Given the description of an element on the screen output the (x, y) to click on. 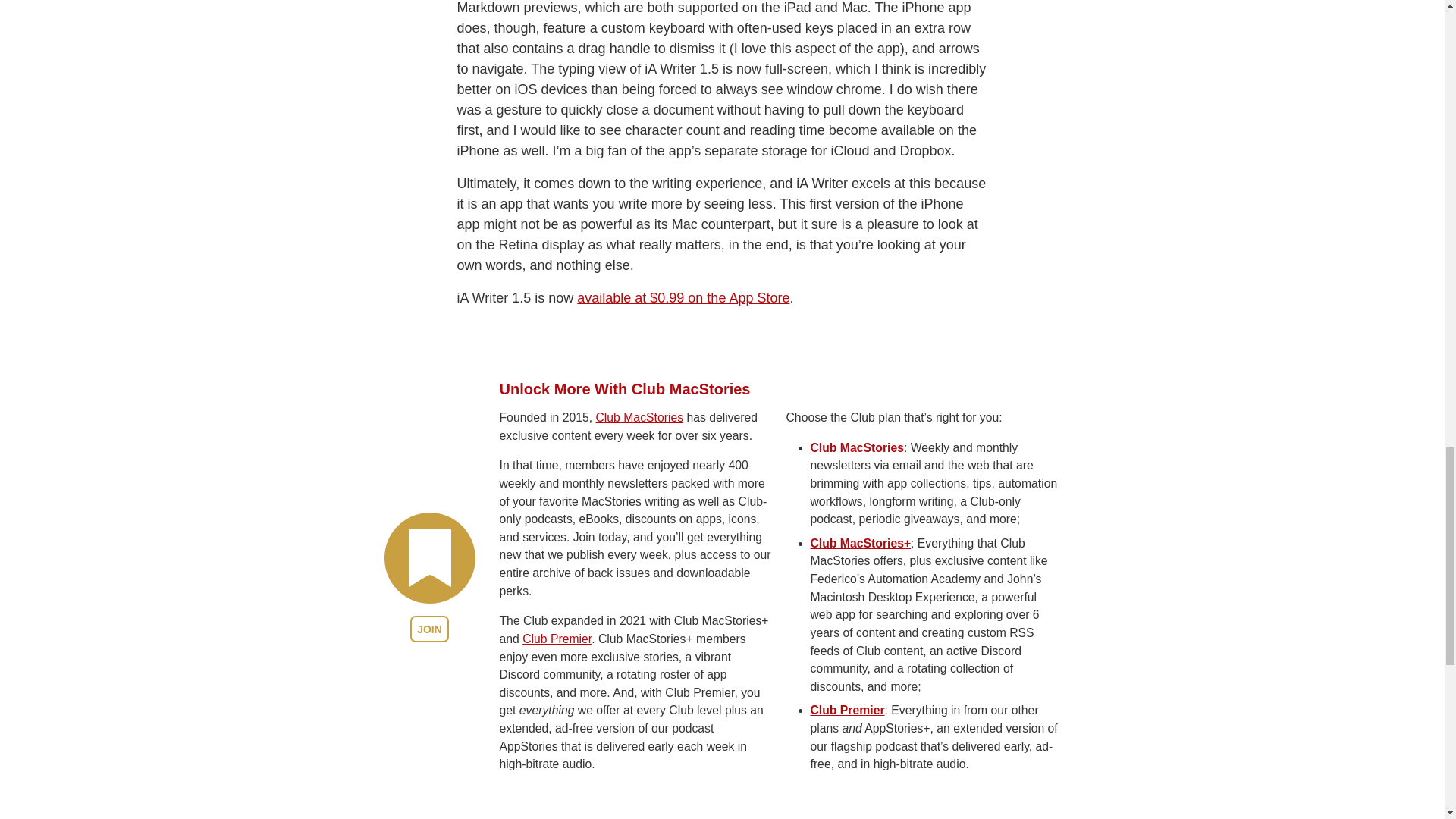
JOIN (429, 722)
Club MacStories (638, 510)
Club Premier (556, 731)
Club MacStories (855, 540)
